Given the description of an element on the screen output the (x, y) to click on. 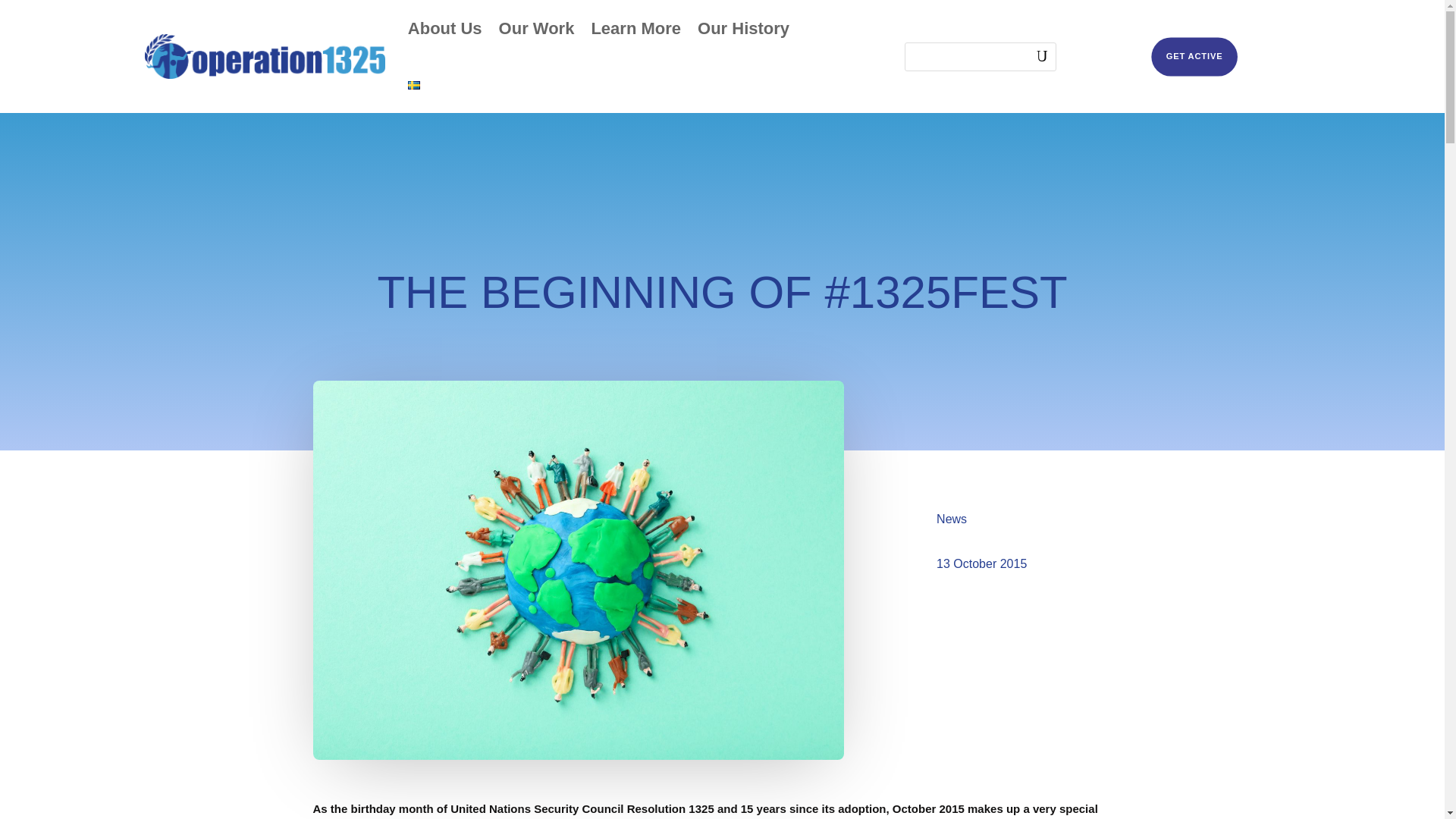
Search (1031, 55)
Our History (743, 28)
About Us (444, 28)
News (951, 518)
Learn More (636, 28)
Our Work (537, 28)
Search (1031, 55)
Search (1031, 55)
GET ACTIVE (1205, 60)
